Given the description of an element on the screen output the (x, y) to click on. 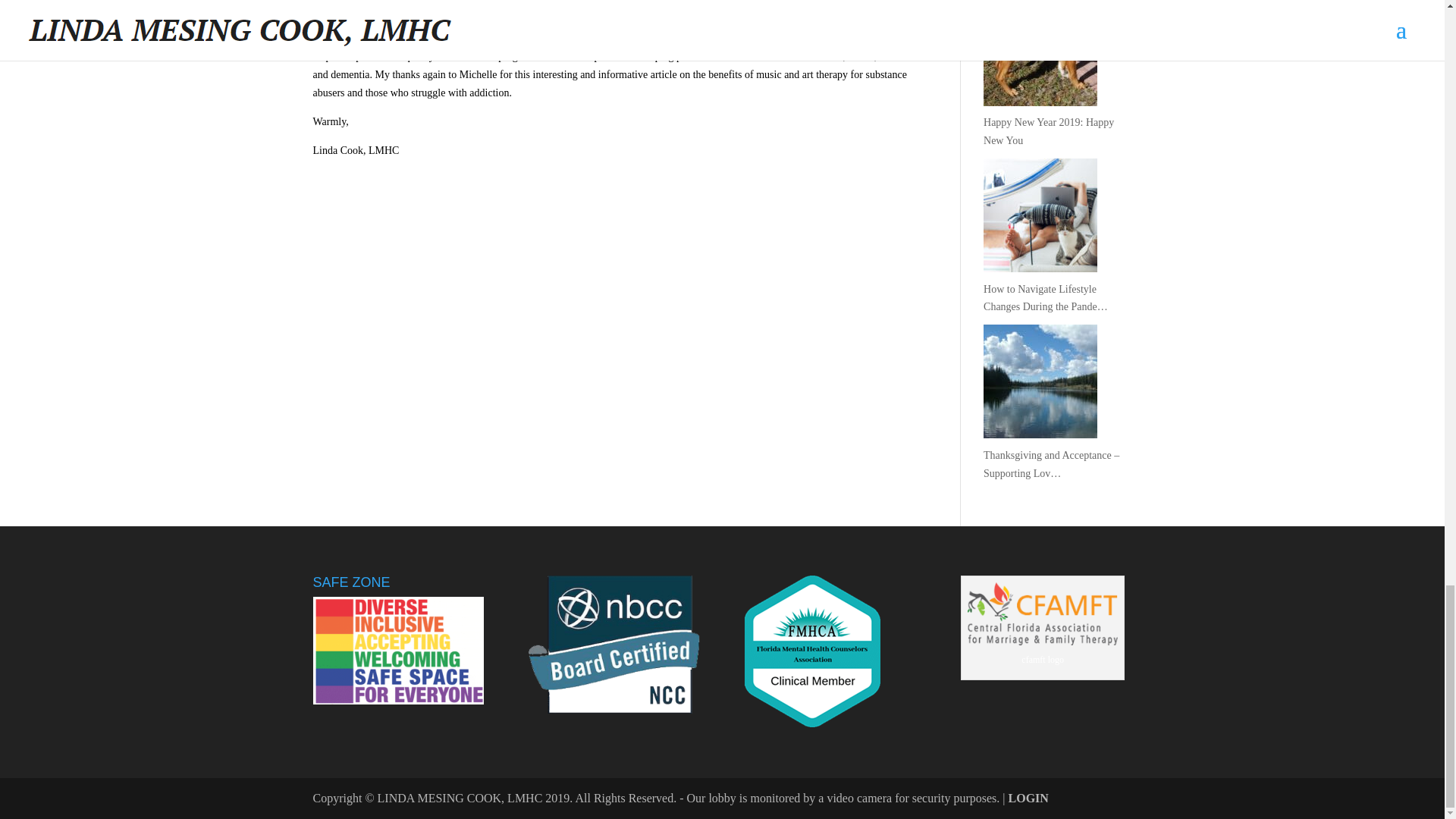
LOGIN (1028, 797)
Happy New Year 2019: Happy New You (1057, 140)
